Given the description of an element on the screen output the (x, y) to click on. 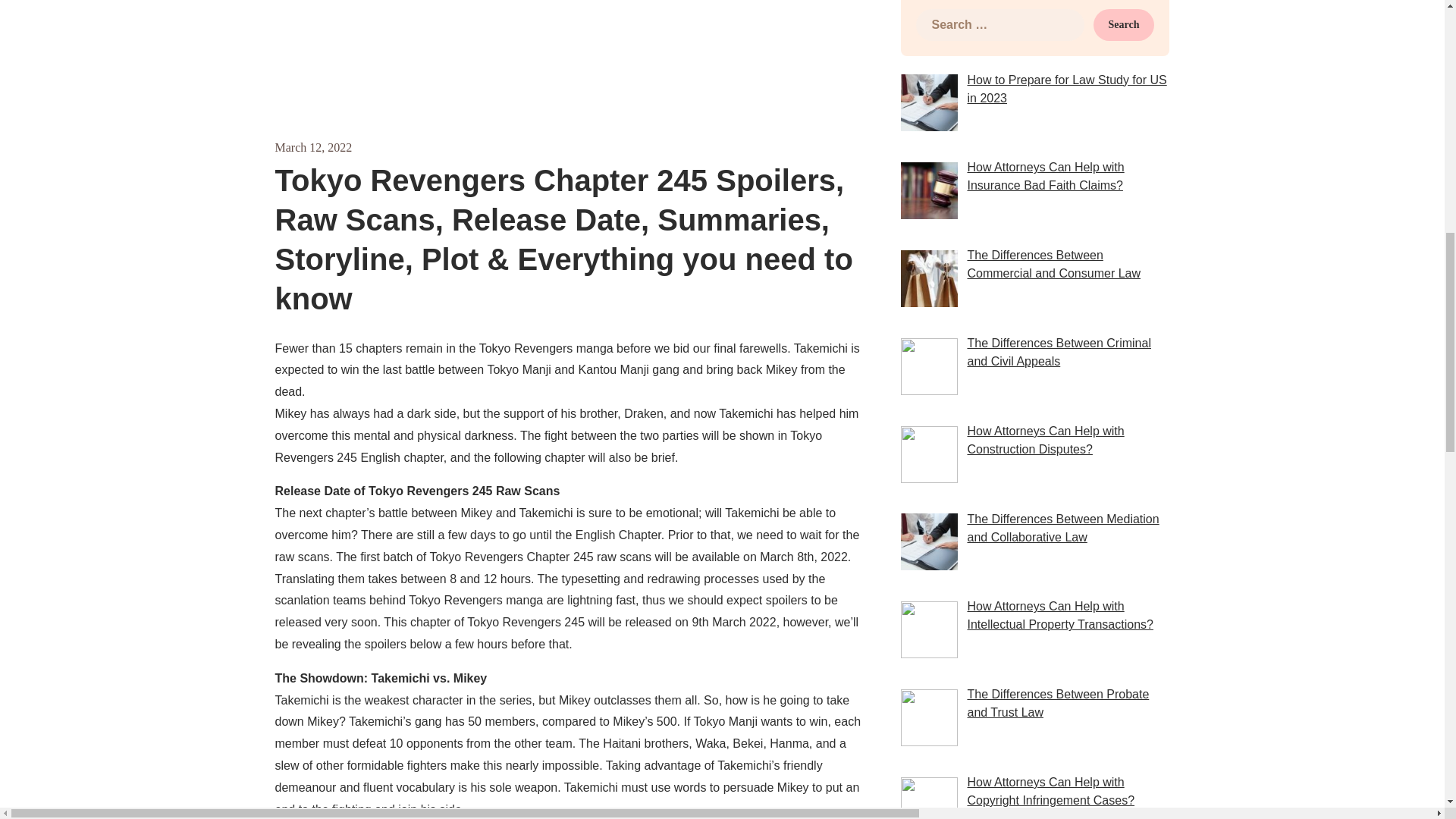
The Differences Between Criminal and Civil Appeals (1058, 351)
The Differences Between Commercial and Consumer Law (1053, 264)
How to Prepare for Law Study for US in 2023 (1066, 88)
How Attorneys Can Help with Insurance Bad Faith Claims? (1045, 175)
How Attorneys Can Help with Copyright Infringement Cases? (1050, 790)
Search (1123, 24)
Search (1123, 24)
The Differences Between Probate and Trust Law (1057, 703)
The Differences Between Mediation and Collaborative Law (1062, 527)
